Given the description of an element on the screen output the (x, y) to click on. 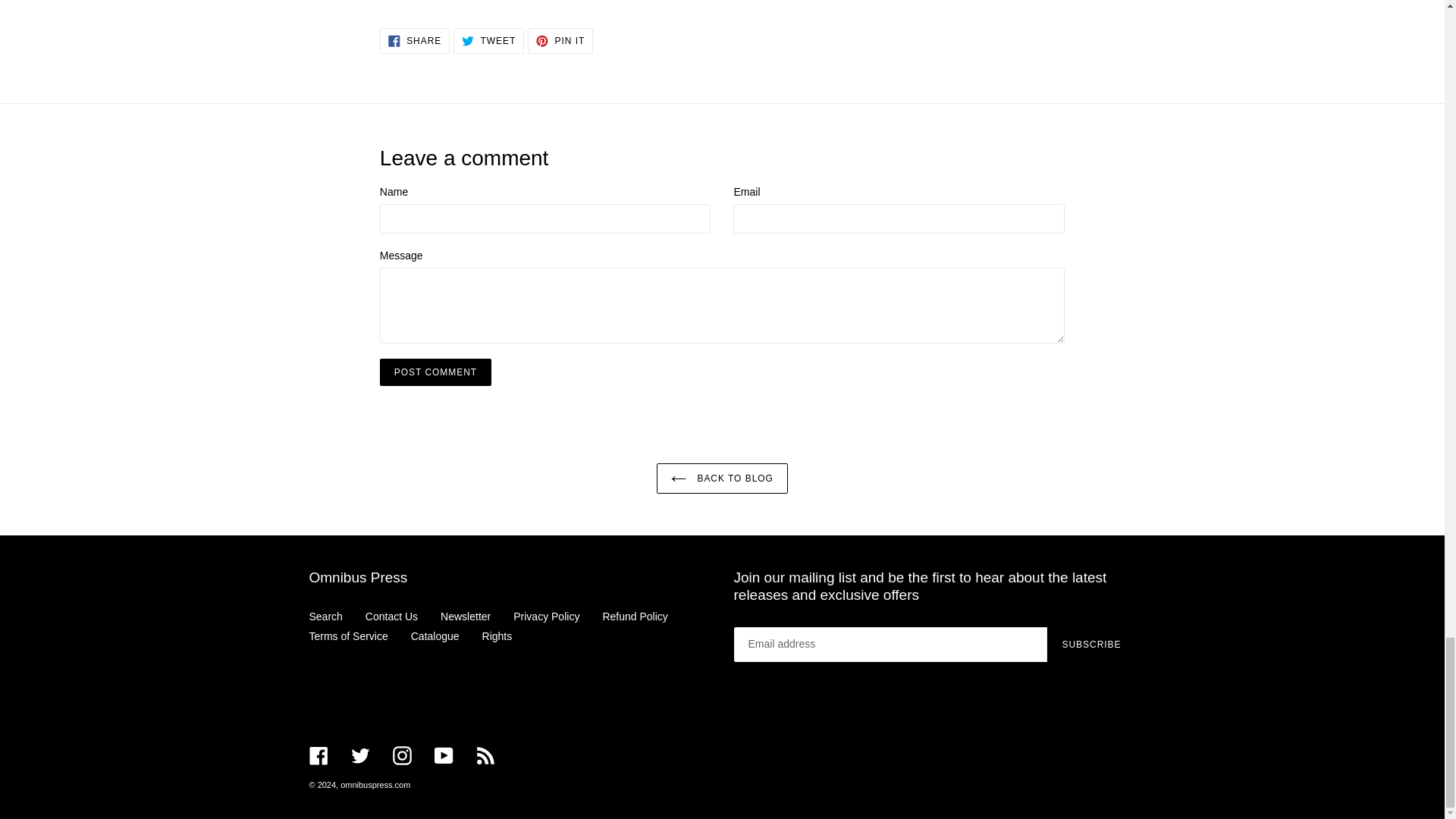
Post comment (436, 371)
